Given the description of an element on the screen output the (x, y) to click on. 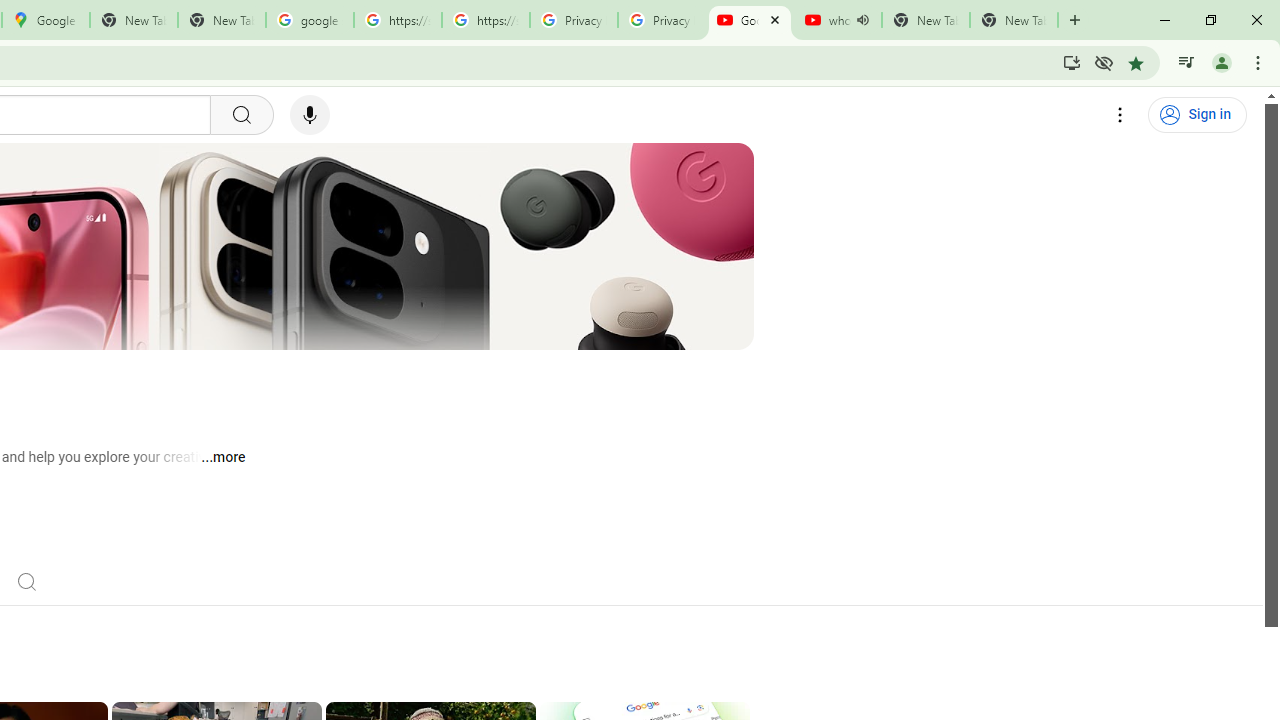
Settings (1119, 115)
Minimize (1165, 20)
Chrome (1260, 62)
https://scholar.google.com/ (397, 20)
Restore (1210, 20)
Mute tab (862, 20)
New Tab (1014, 20)
